Given the description of an element on the screen output the (x, y) to click on. 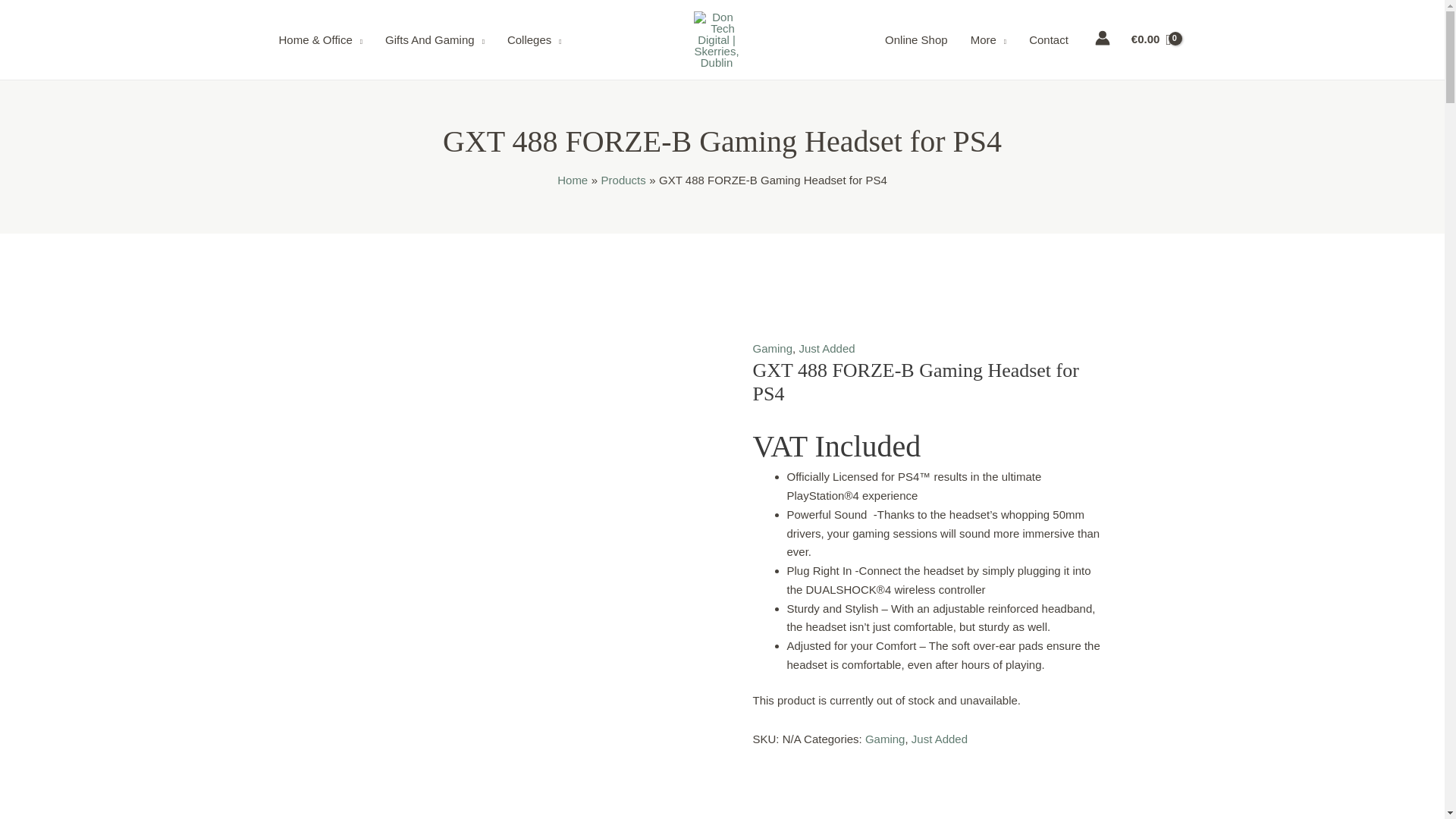
More (988, 39)
Colleges (534, 39)
Gifts And Gaming (435, 39)
Contact (1048, 39)
Online Shop (916, 39)
